Given the description of an element on the screen output the (x, y) to click on. 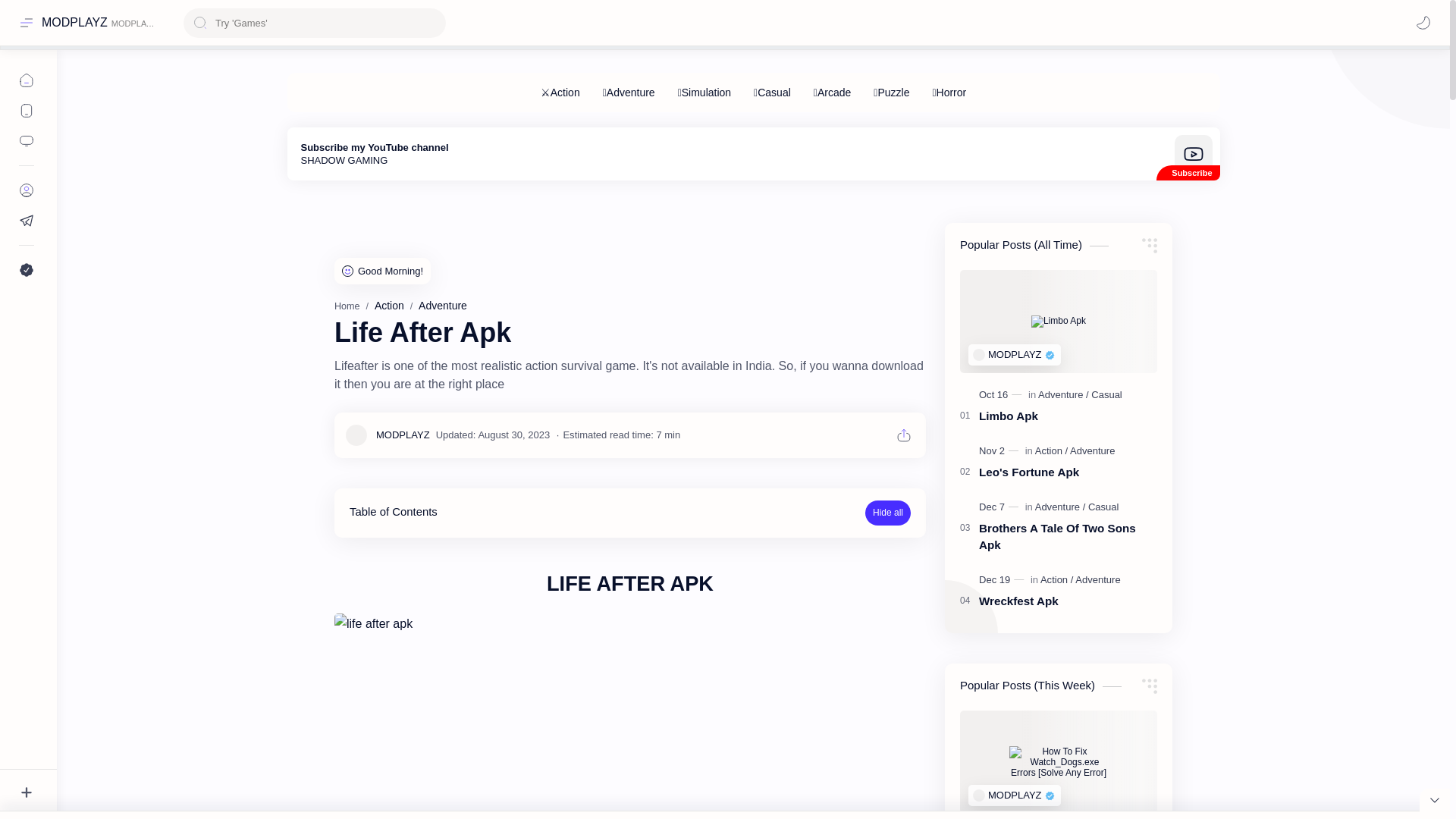
MODPLAYZ (74, 22)
Last updated: August 30, 2023 (492, 434)
Action (389, 305)
Home (346, 306)
Life After Apk (630, 716)
